Given the description of an element on the screen output the (x, y) to click on. 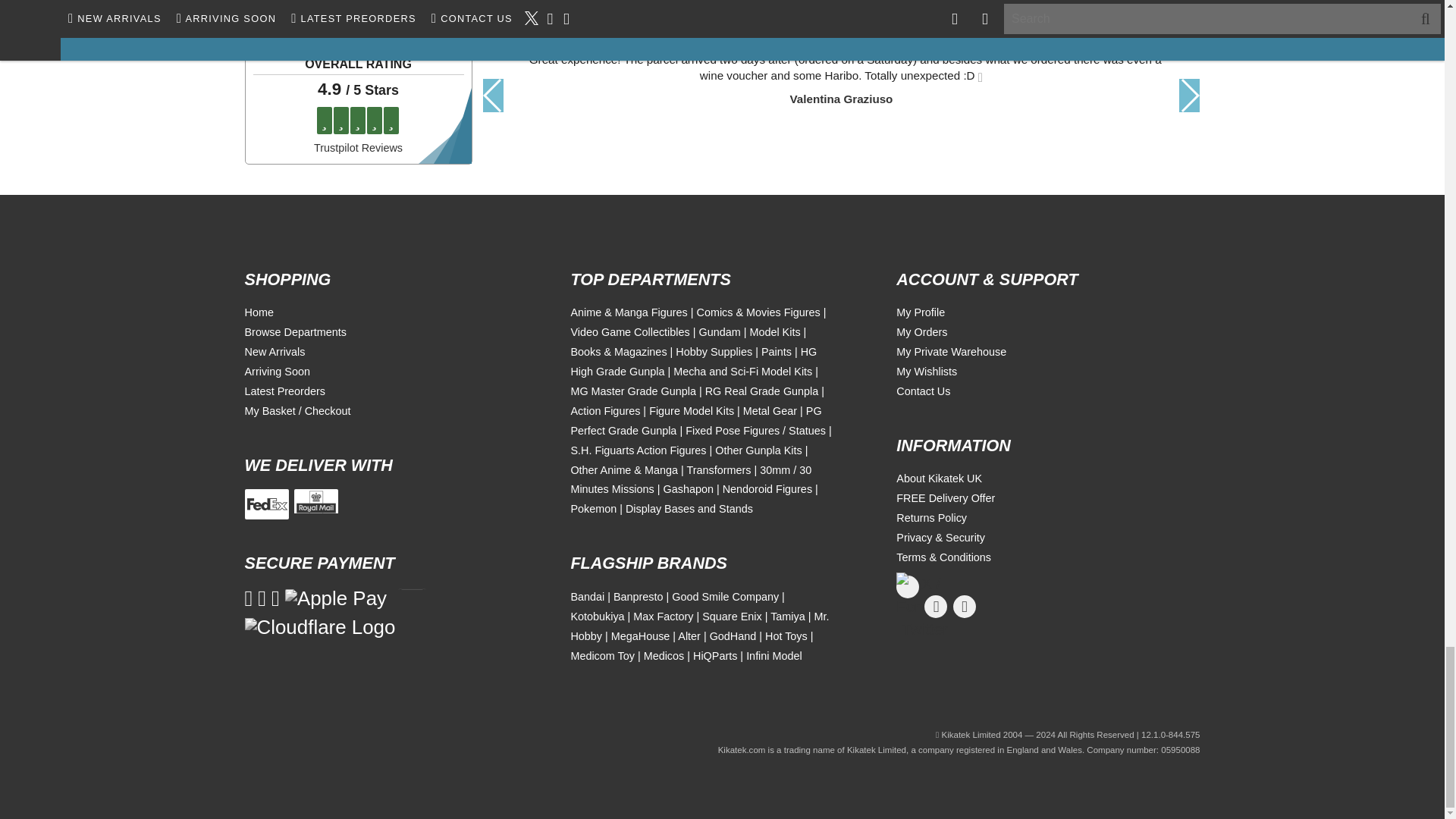
Trustpilot Reviews (358, 147)
Home (258, 312)
Browse Departments (295, 331)
New Arrivals (274, 351)
Economy and express delivery with Royal Mail (315, 503)
Express delivery with FedEx (266, 503)
